Given the description of an element on the screen output the (x, y) to click on. 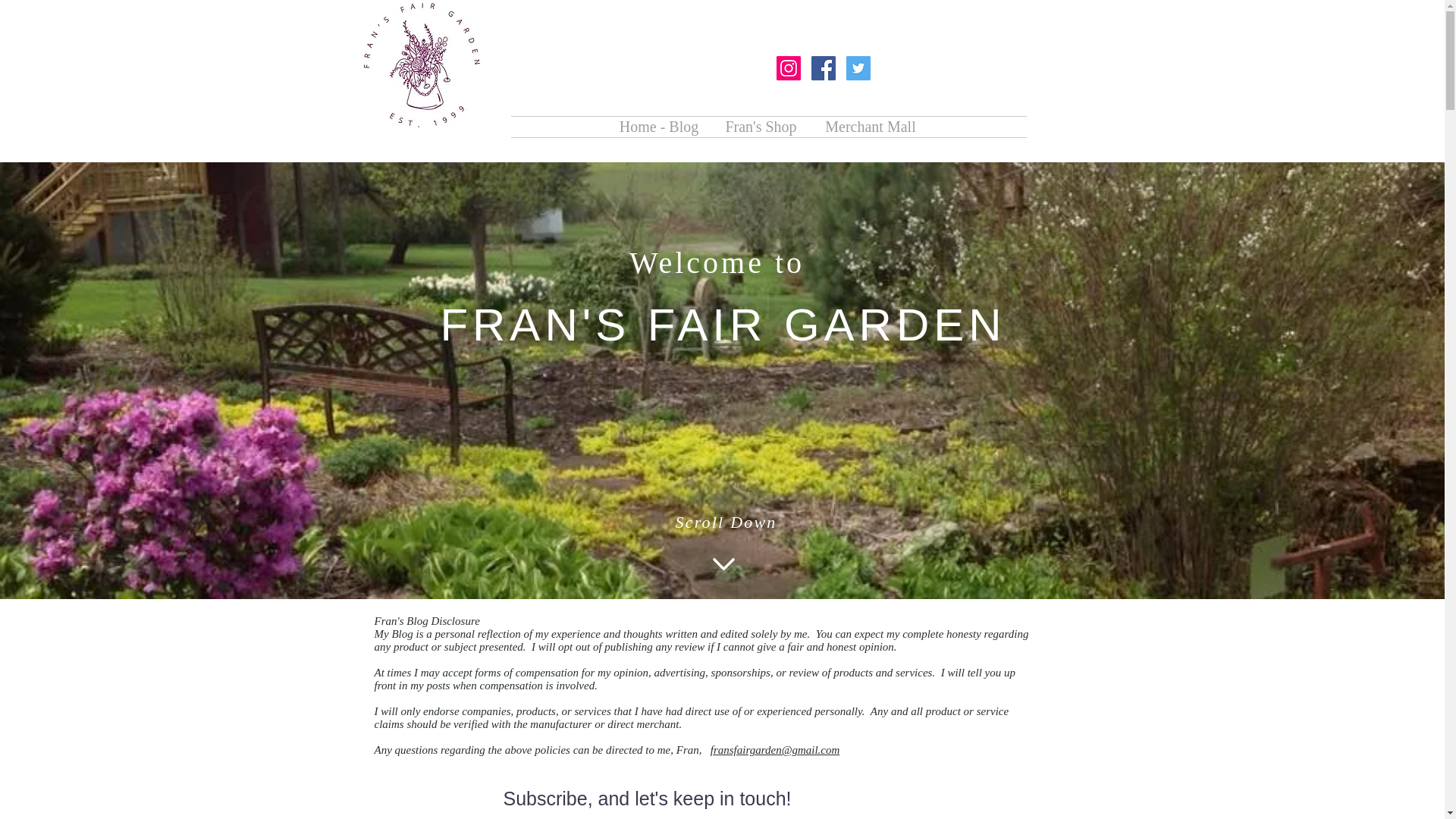
Fran's Shop (760, 127)
Home - Blog (658, 127)
